Given the description of an element on the screen output the (x, y) to click on. 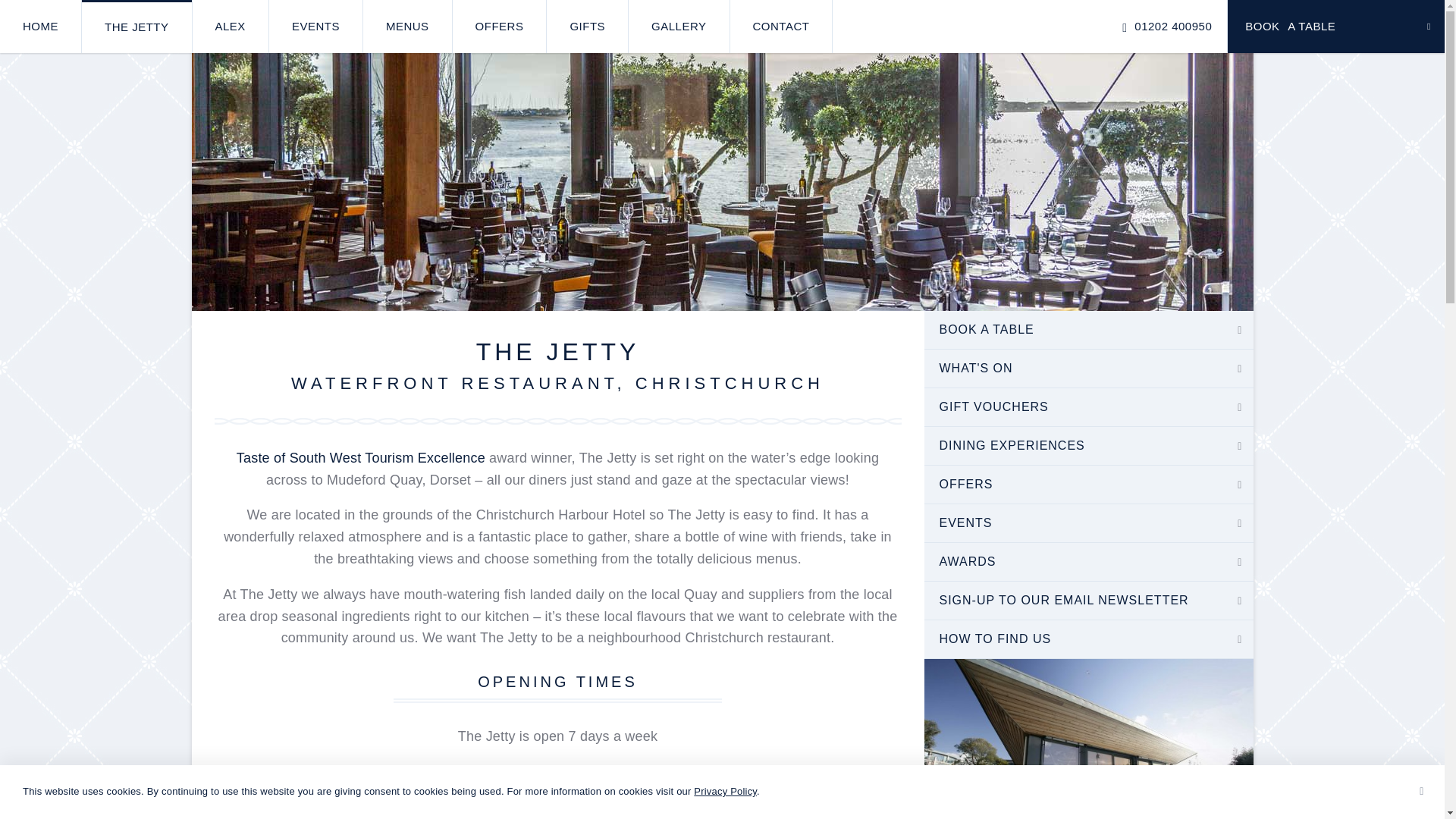
Taste of South West Tourism Excellence (359, 458)
GIFTS (587, 26)
HOME (40, 26)
EVENTS (315, 26)
ALEX (229, 26)
WHAT'S ON (1087, 368)
BOOK A TABLE (1087, 329)
GALLERY (678, 26)
MENUS (406, 26)
CONTACT (781, 26)
THE JETTY (136, 26)
OFFERS (499, 26)
Awards (359, 458)
